Given the description of an element on the screen output the (x, y) to click on. 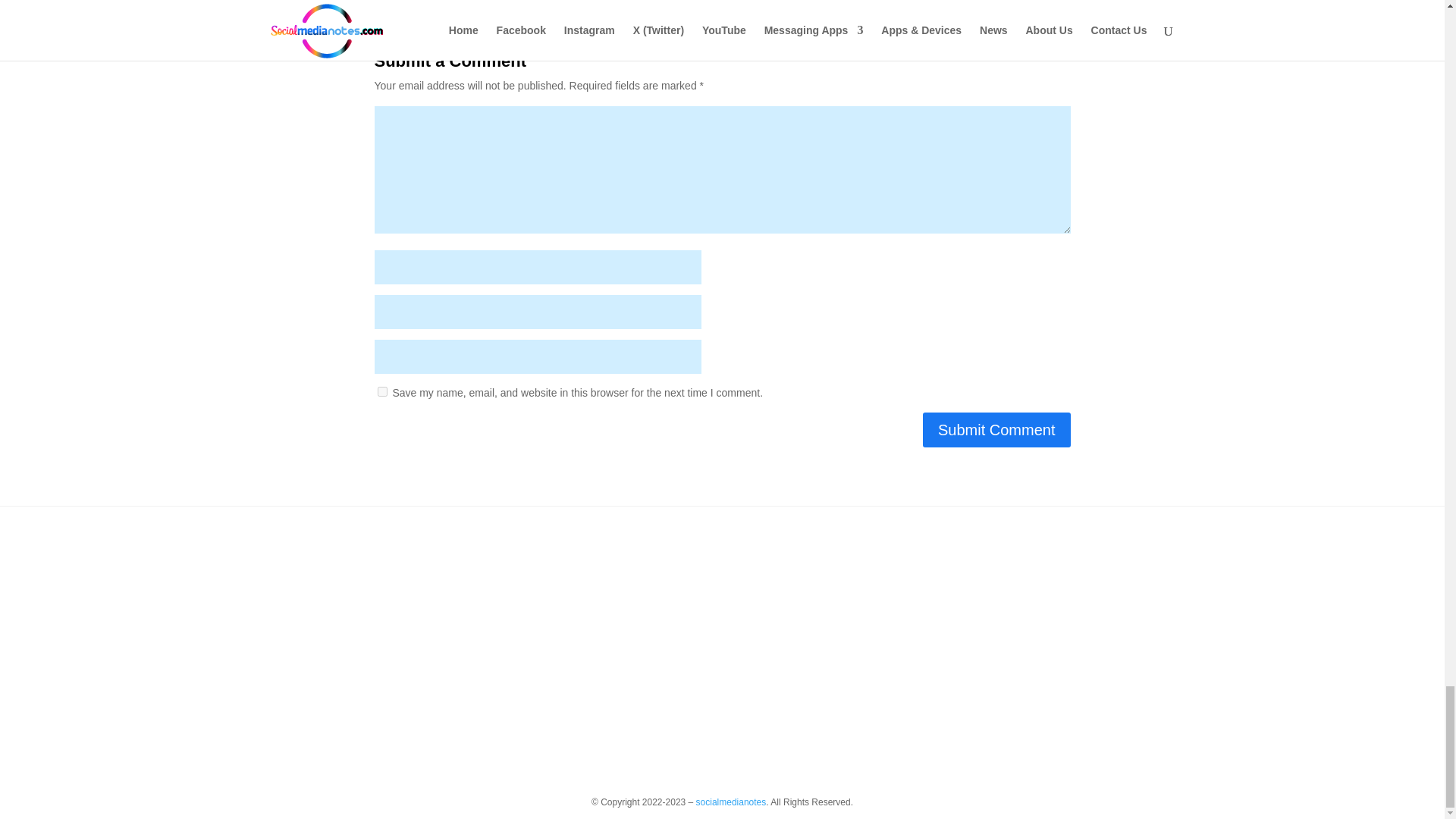
yes (382, 391)
